Given the description of an element on the screen output the (x, y) to click on. 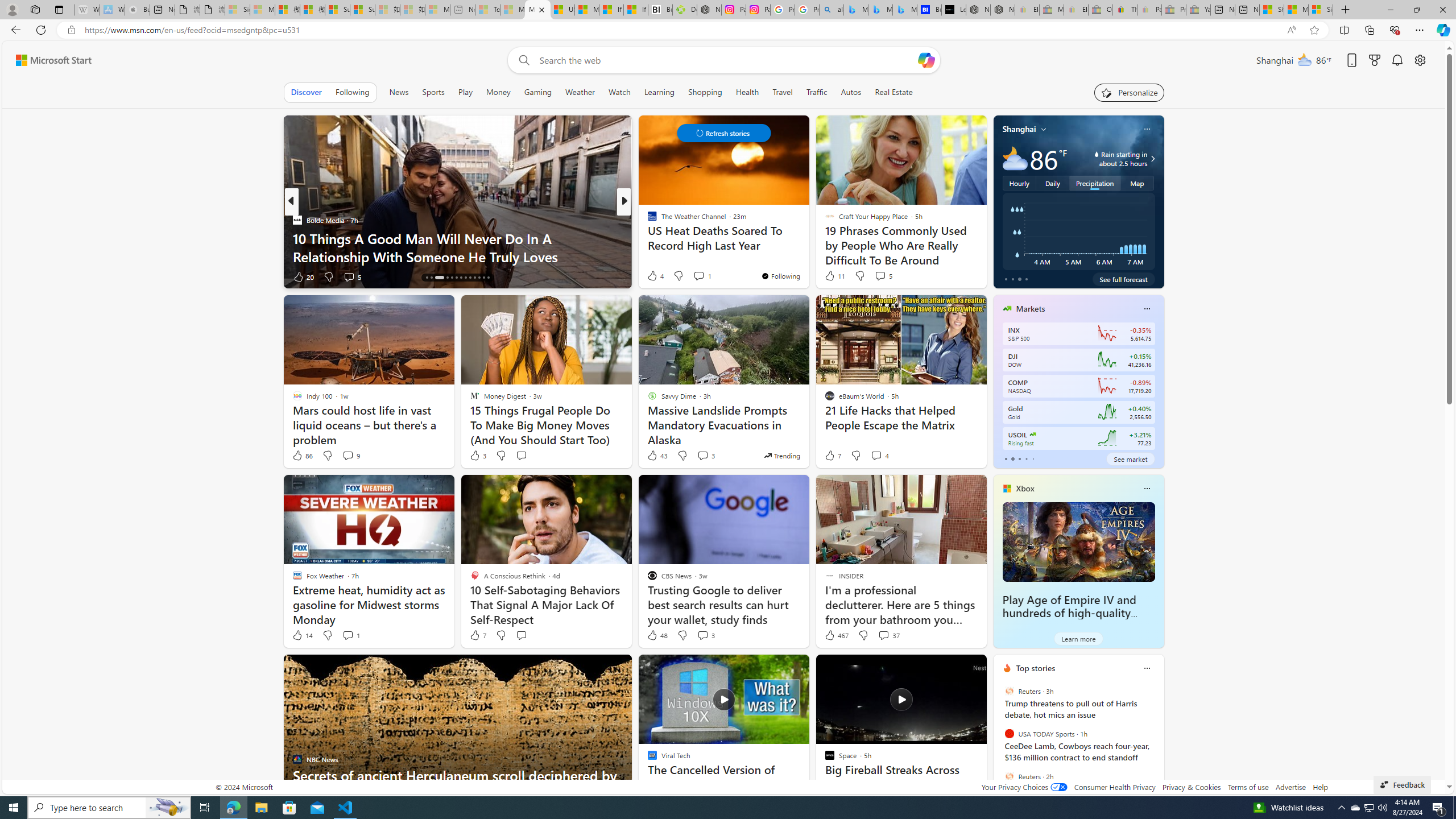
AutomationID: tab-23 (474, 277)
AutomationID: tab-17 (446, 277)
Yard, Garden & Outdoor Living - Sleeping (1197, 9)
View comments 11 Comment (707, 276)
467 Like (835, 634)
spot on news (647, 238)
View comments 5 Comment (882, 275)
GOBankingRates (647, 219)
You're following The Weather Channel (780, 275)
AutomationID: tab-14 (426, 277)
